Given the description of an element on the screen output the (x, y) to click on. 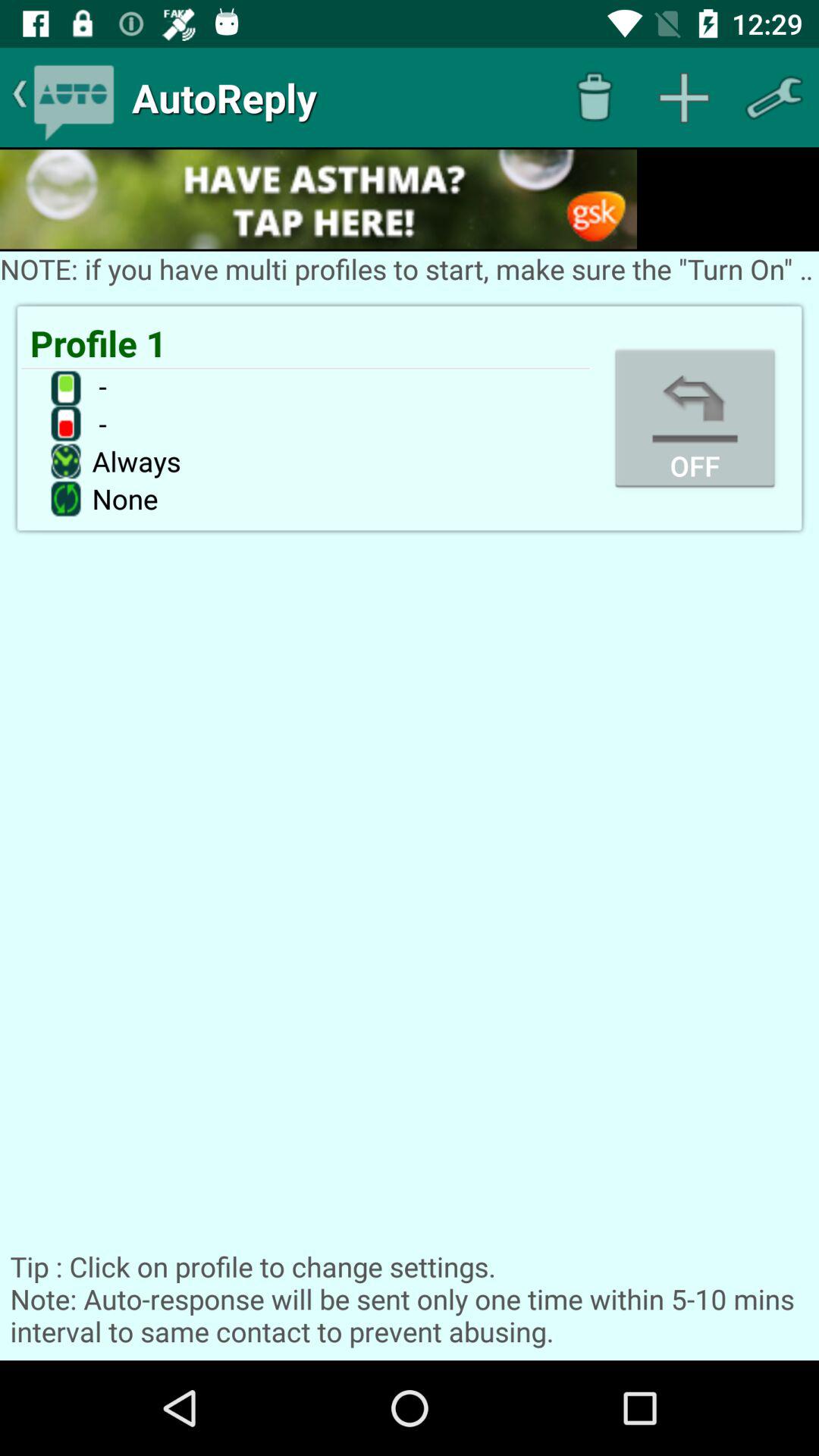
delete item (594, 97)
